Given the description of an element on the screen output the (x, y) to click on. 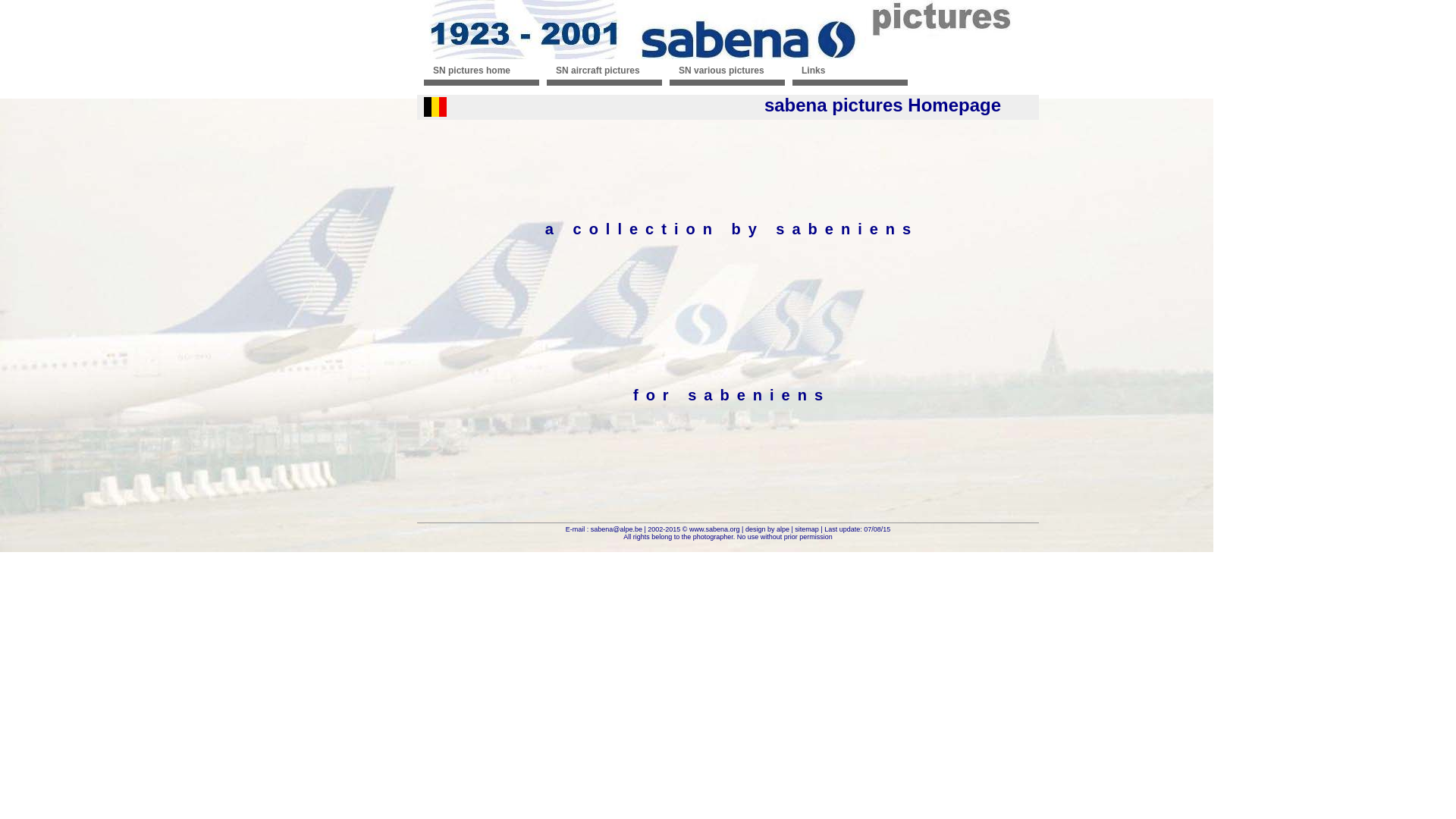
SN aircraft pictures Element type: text (604, 74)
Links Element type: text (849, 74)
SN various pictures Element type: text (726, 74)
SN pictures home Element type: text (481, 74)
www.sabena.org Element type: text (714, 529)
sitemap Element type: text (806, 529)
